Given the description of an element on the screen output the (x, y) to click on. 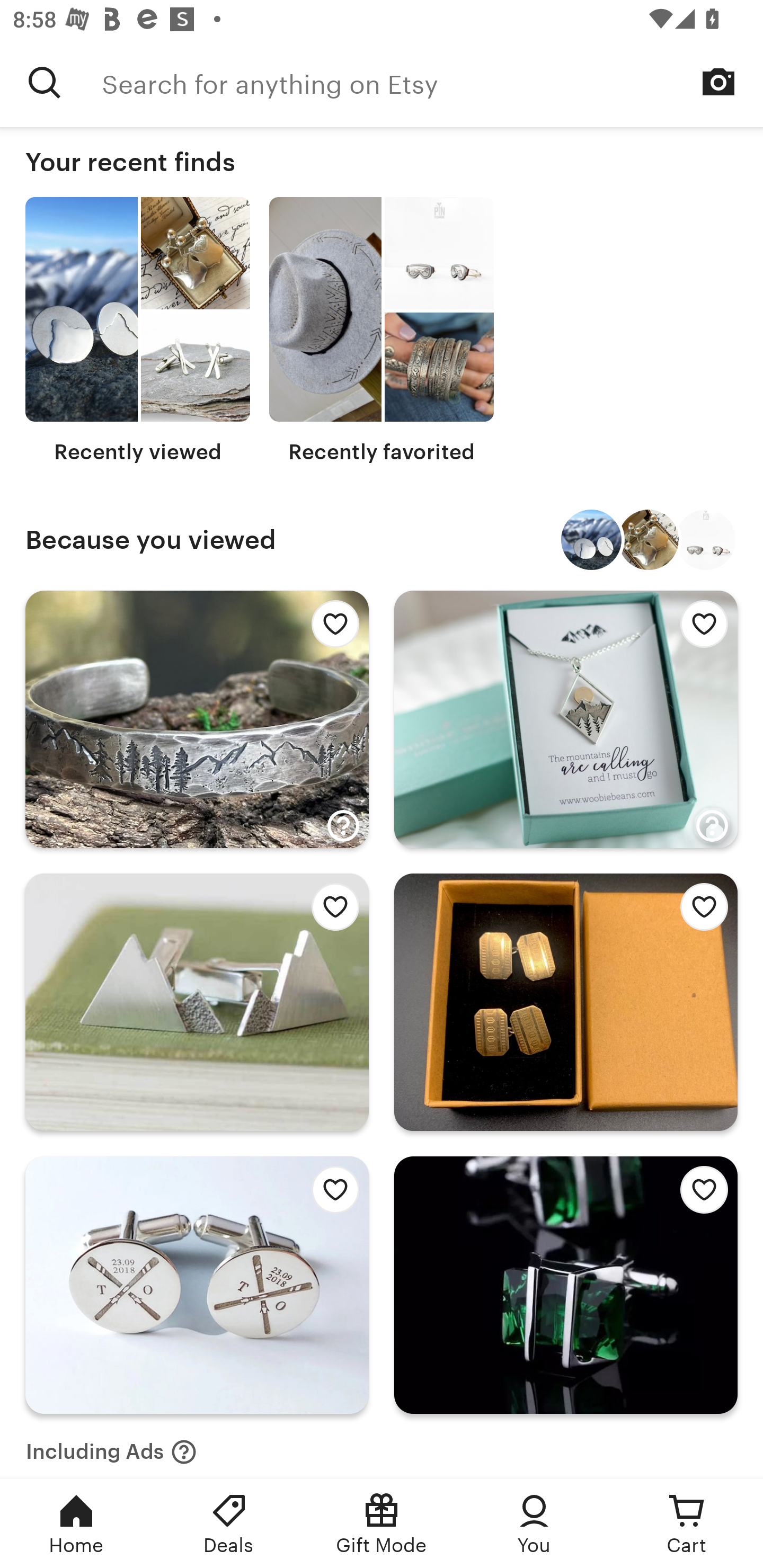
Search for anything on Etsy (44, 82)
Search by image (718, 81)
Search for anything on Etsy (432, 82)
Recently viewed (137, 330)
Recently favorited (381, 330)
Including Ads (111, 1446)
Deals (228, 1523)
Gift Mode (381, 1523)
You (533, 1523)
Cart (686, 1523)
